Given the description of an element on the screen output the (x, y) to click on. 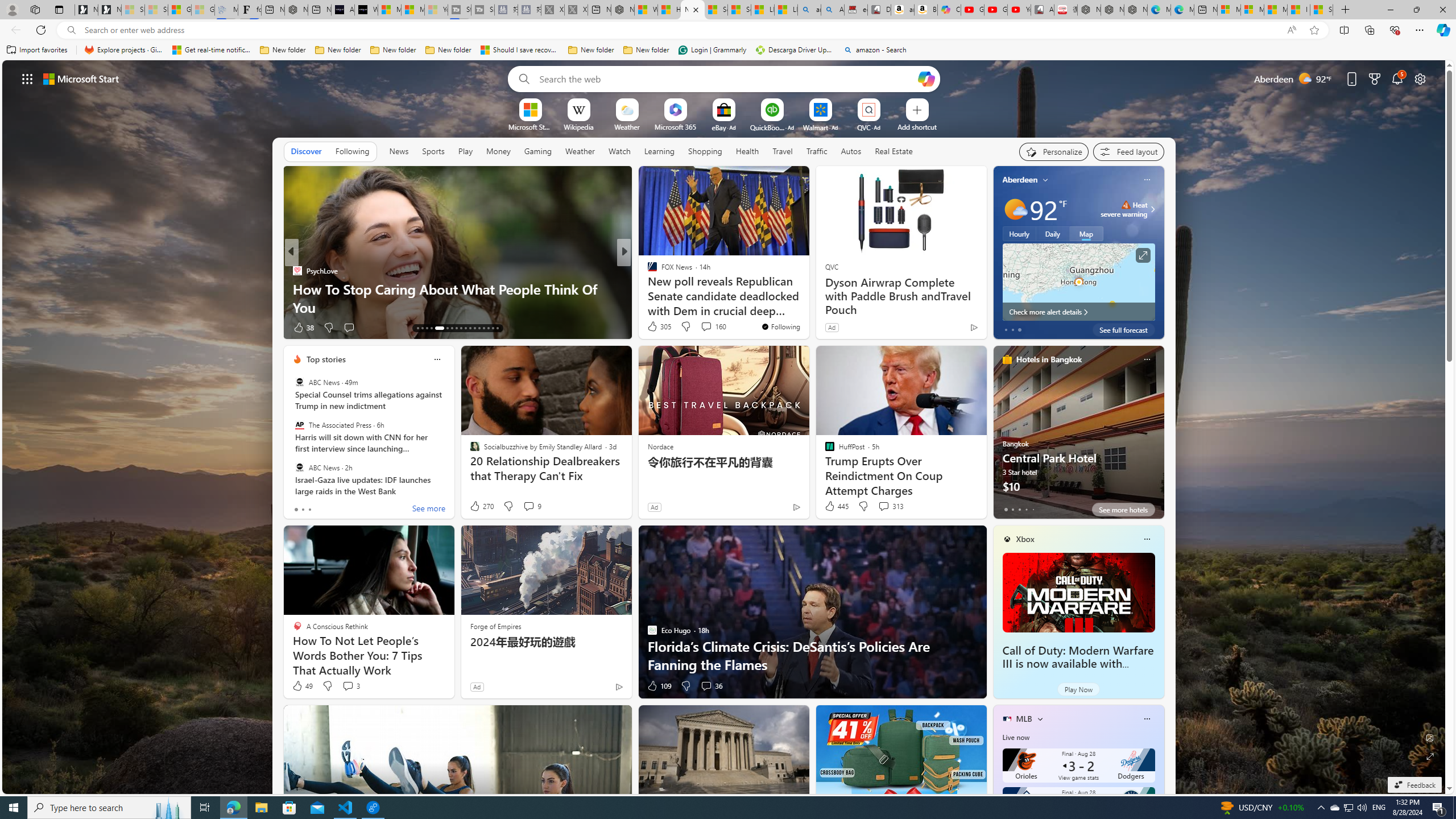
Dyson Airwrap Complete with Paddle Brush andTravel Pouch (900, 296)
Xbox (1025, 538)
View comments 107 Comment (703, 327)
Heat - Severe (1126, 204)
20 Like (652, 327)
305 Like (658, 326)
AutomationID: tab-16 (431, 328)
Nordace Comino Totepack (1089, 9)
